Given the description of an element on the screen output the (x, y) to click on. 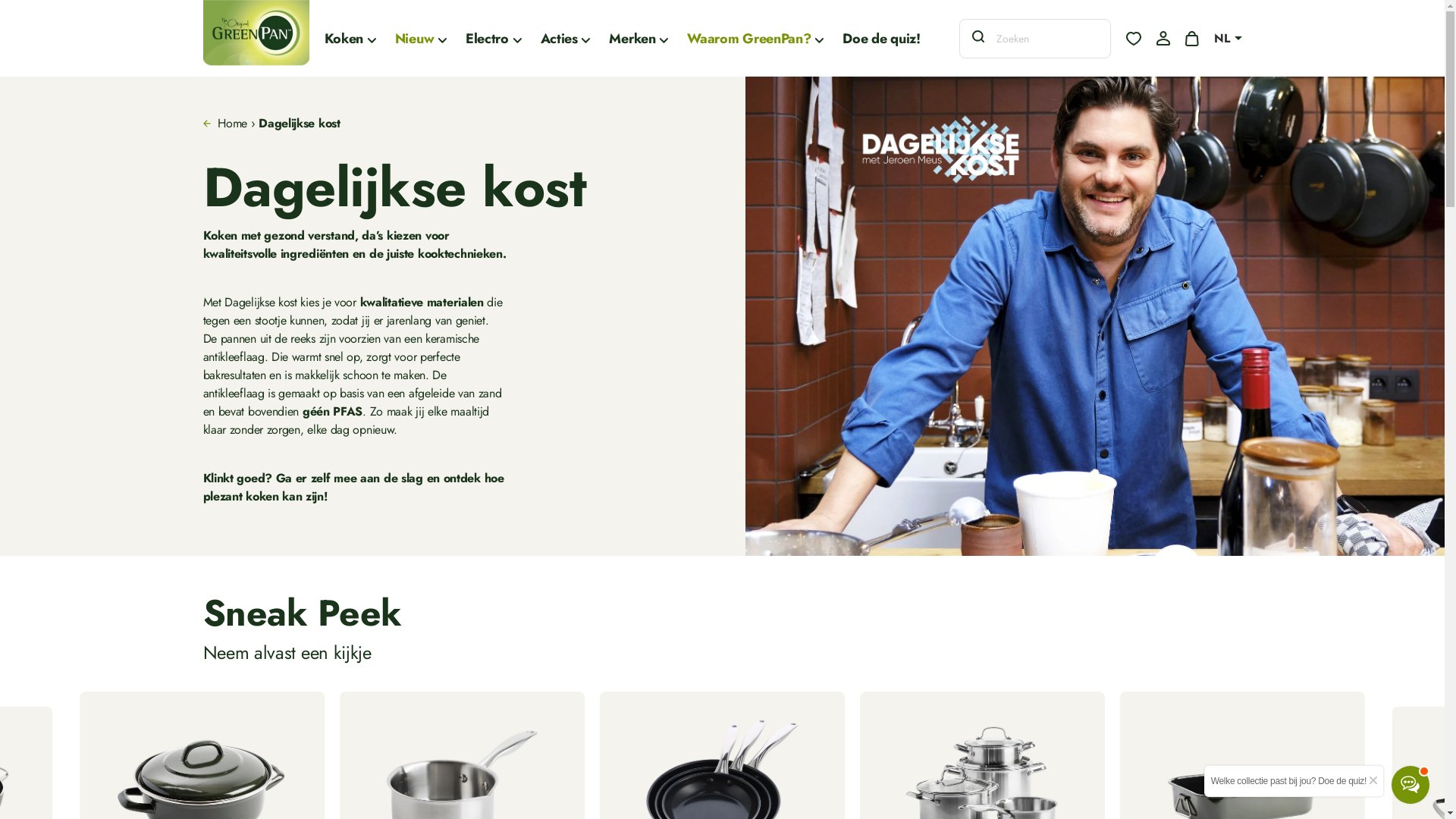
Electro Element type: text (493, 38)
Koken Element type: text (350, 38)
Merken Element type: text (638, 38)
Waarom GreenPan? Element type: text (755, 38)
Doe de quiz! Element type: text (880, 38)
Home Element type: text (232, 122)
Nieuw Element type: text (420, 38)
Acties Element type: text (565, 38)
Submit Element type: text (23, 9)
